Given the description of an element on the screen output the (x, y) to click on. 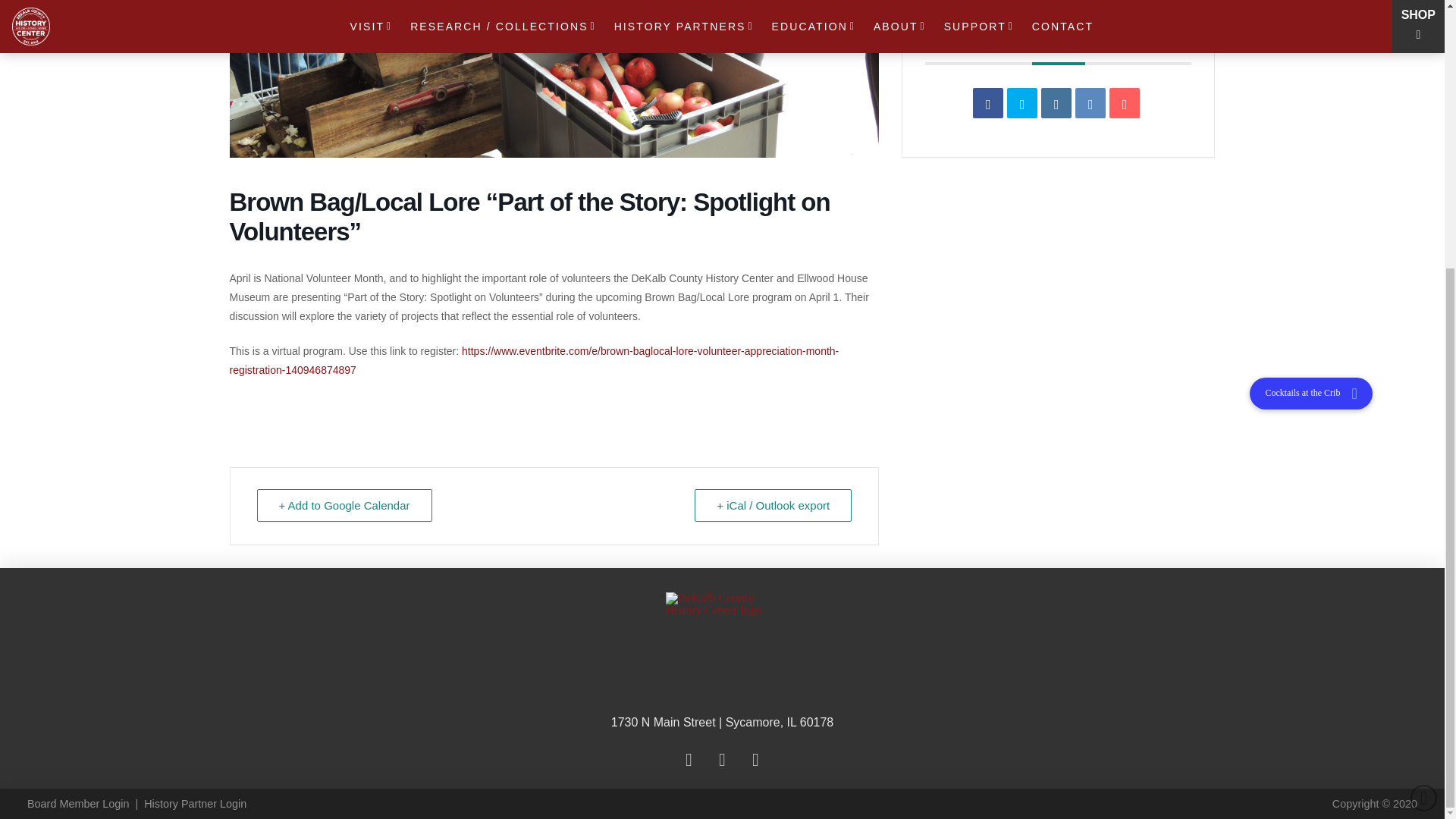
VK (1090, 102)
Back to Top (1423, 407)
Share on Facebook (987, 102)
Email (1124, 102)
Linkedin (1056, 102)
Tweet (1021, 102)
